Given the description of an element on the screen output the (x, y) to click on. 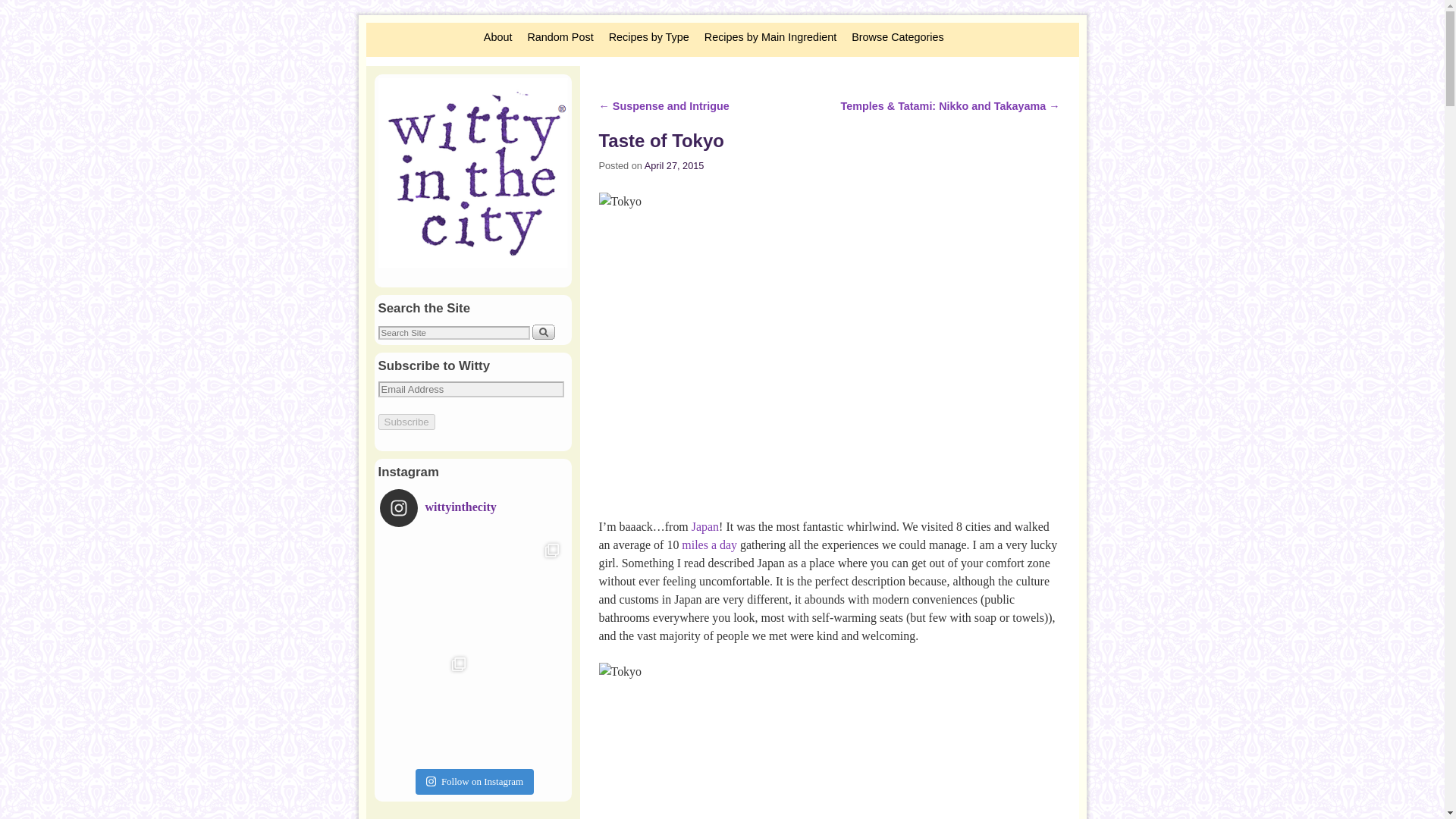
Follow on Instagram (474, 781)
Recipes by Type (649, 36)
Subscribe (405, 421)
miles a day (708, 544)
7:00 am (674, 165)
Random Post (559, 36)
Japan (705, 526)
String Bean Tempura and Global Supper Club: Japan Edition (705, 526)
wittyinthecity (456, 507)
An Activity Tracker for the Privacy-Conscious (708, 544)
Skip to primary content (408, 29)
Skip to secondary content (412, 29)
Recipes by Main Ingredient (770, 36)
April 27, 2015 (674, 165)
About (497, 36)
